Given the description of an element on the screen output the (x, y) to click on. 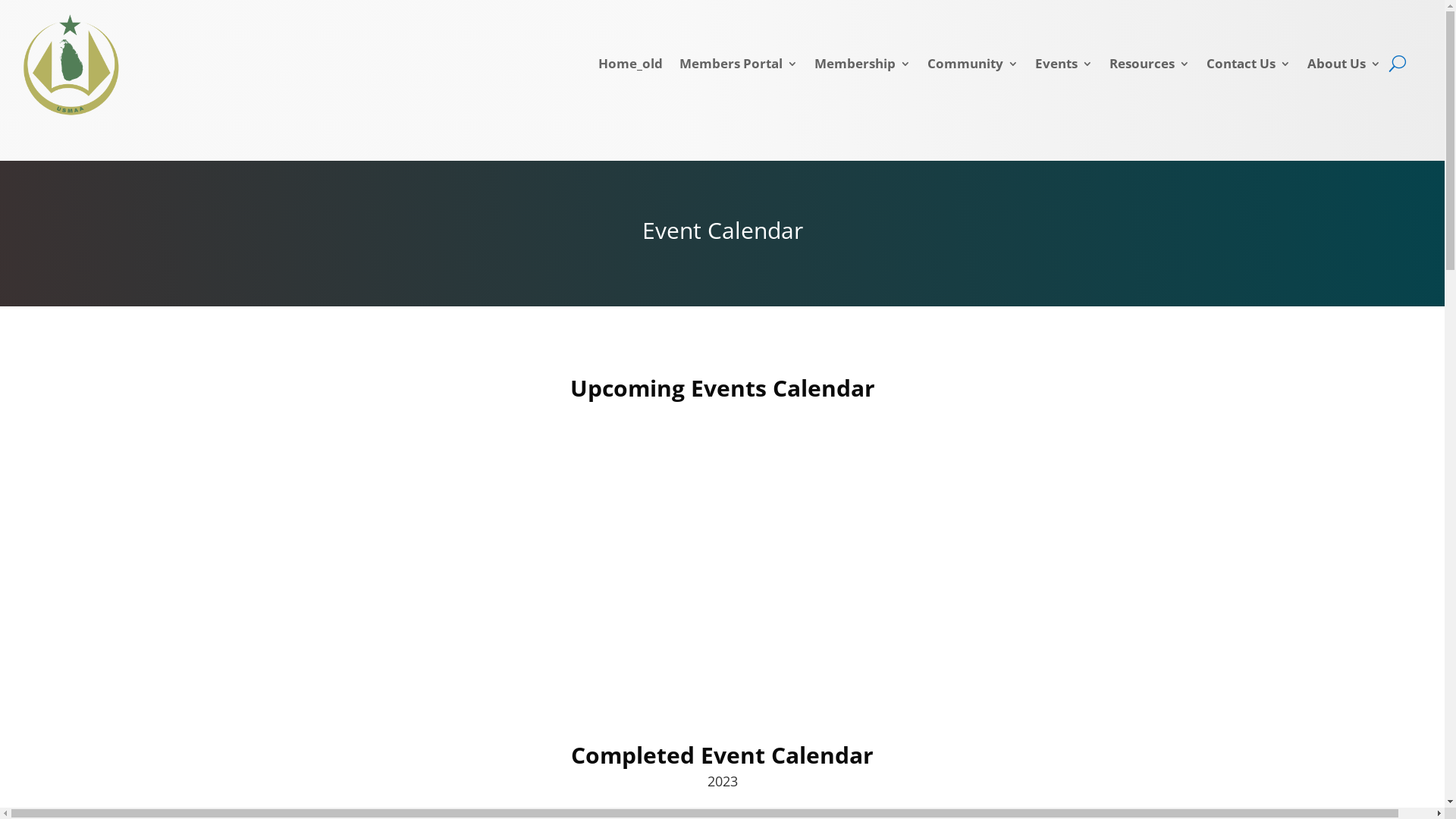
Community Element type: text (972, 66)
Events Element type: text (1063, 66)
Membership Element type: text (862, 66)
Members Portal Element type: text (738, 66)
Resources Element type: text (1149, 66)
Contact Us Element type: text (1248, 66)
About Us Element type: text (1343, 66)
Home_old Element type: text (630, 66)
